Given the description of an element on the screen output the (x, y) to click on. 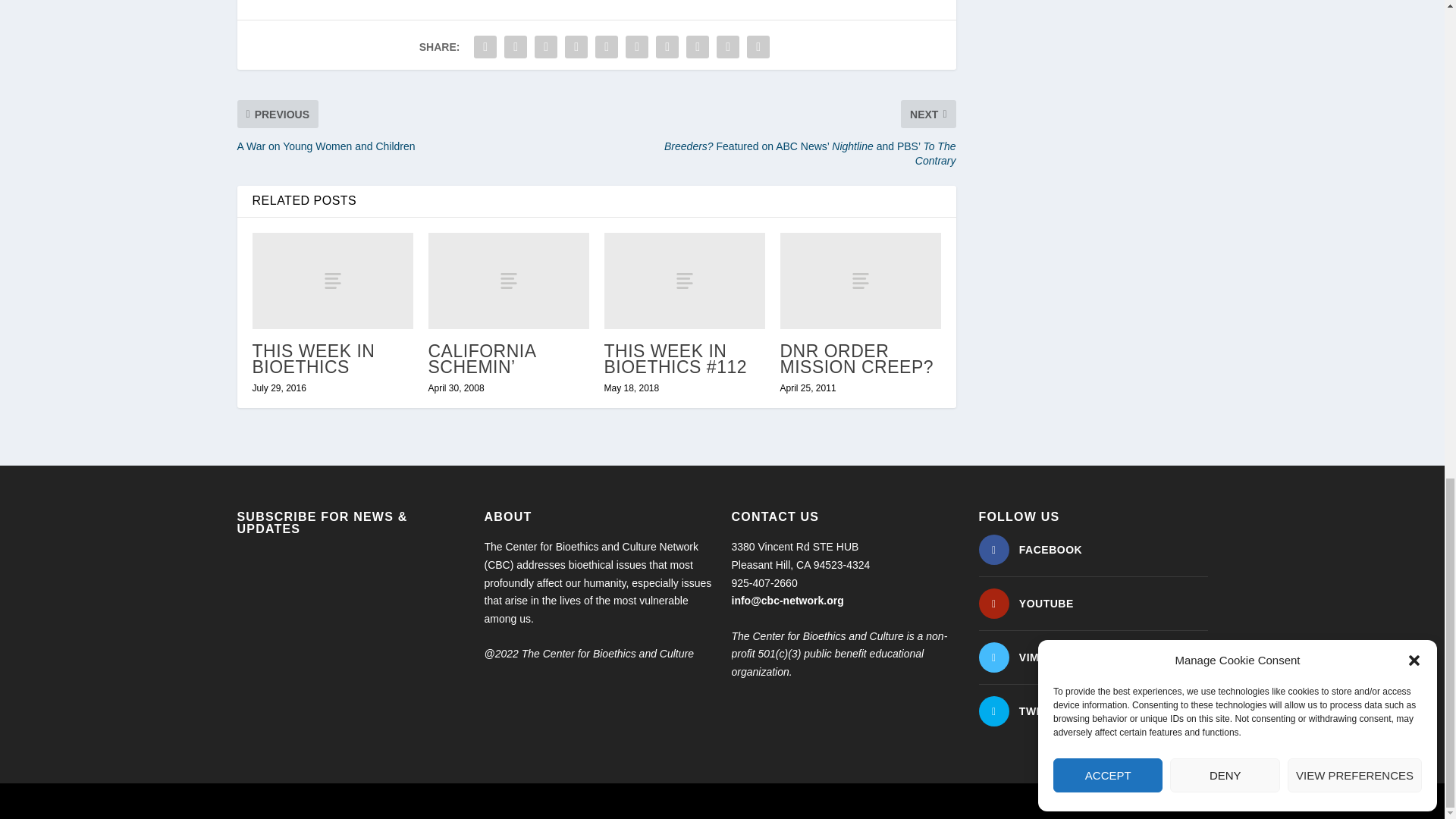
This Week in Bioethics (331, 280)
